Given the description of an element on the screen output the (x, y) to click on. 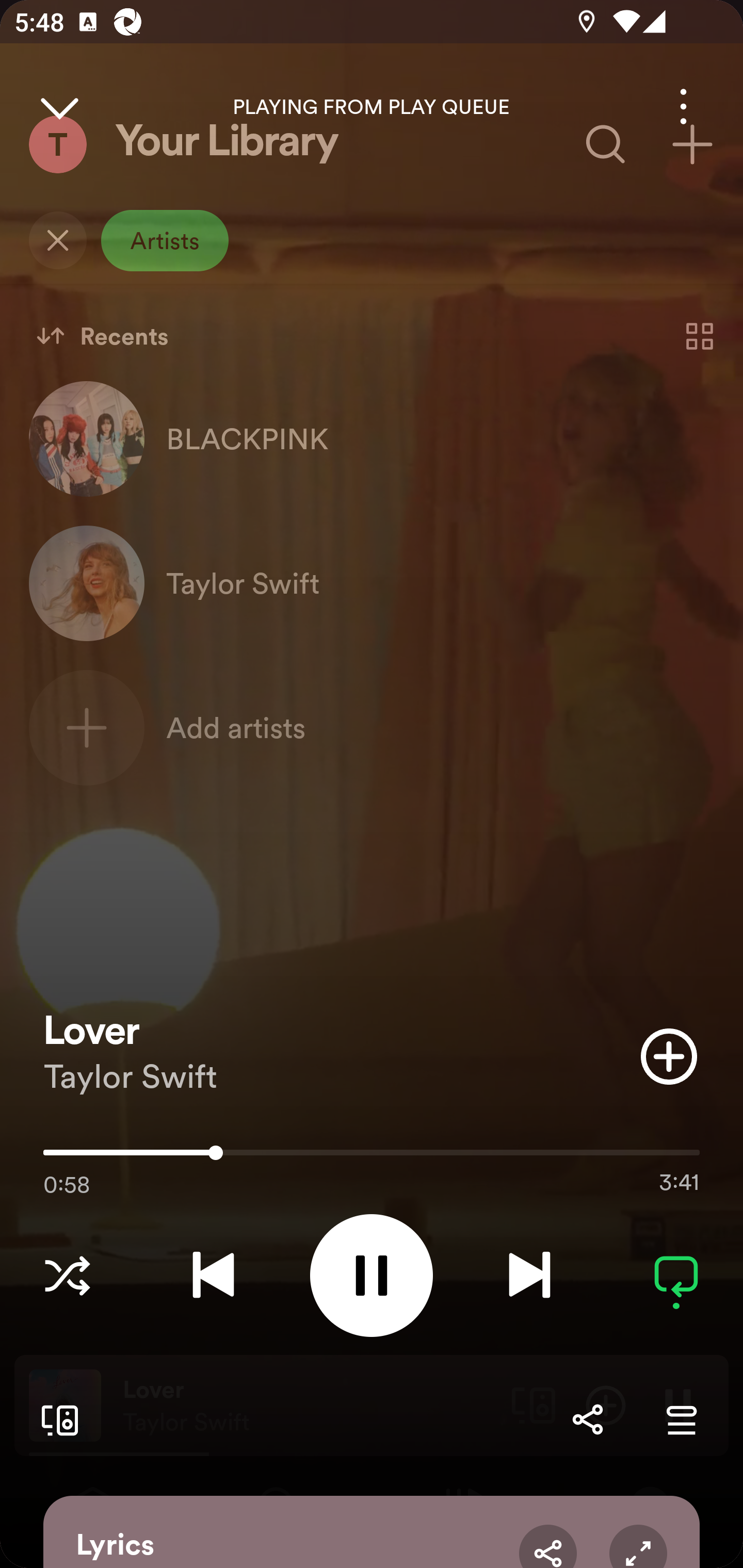
Close (59, 106)
More options for song Lover (683, 106)
PLAYING FROM PLAY QUEUE (371, 107)
Add item (669, 1056)
0:57 3:41 57908.0 Use volume keys to adjust (371, 1157)
Pause (371, 1275)
Previous (212, 1275)
Next (529, 1275)
Choose a Listening Mode (66, 1275)
Repeat (676, 1275)
Share (587, 1419)
Go to Queue (681, 1419)
Connect to a device. Opens the devices menu (55, 1419)
Lyrics Share Expand (371, 1531)
Share (547, 1546)
Expand (638, 1546)
